Given the description of an element on the screen output the (x, y) to click on. 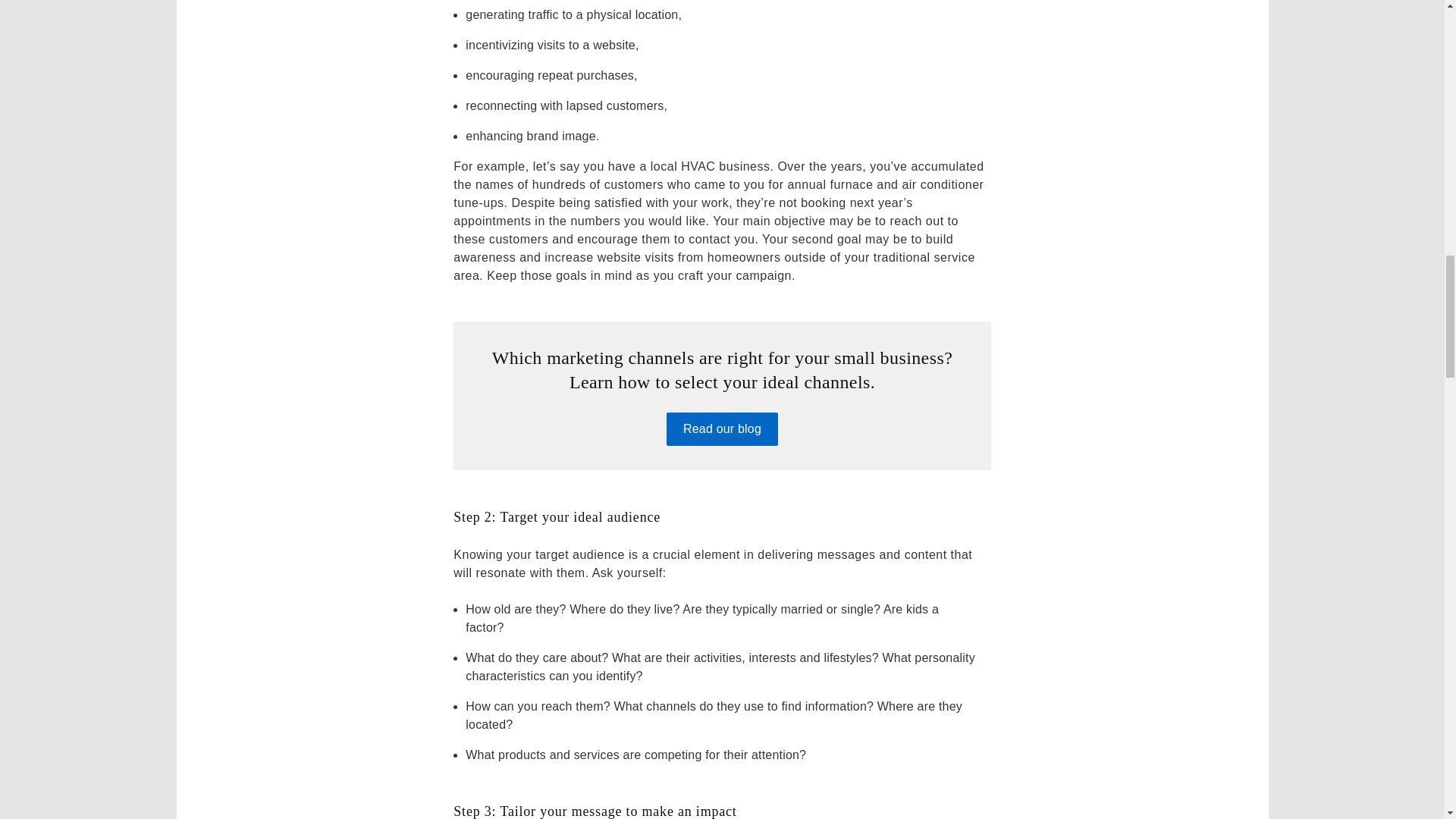
Read our blog (721, 428)
